Given the description of an element on the screen output the (x, y) to click on. 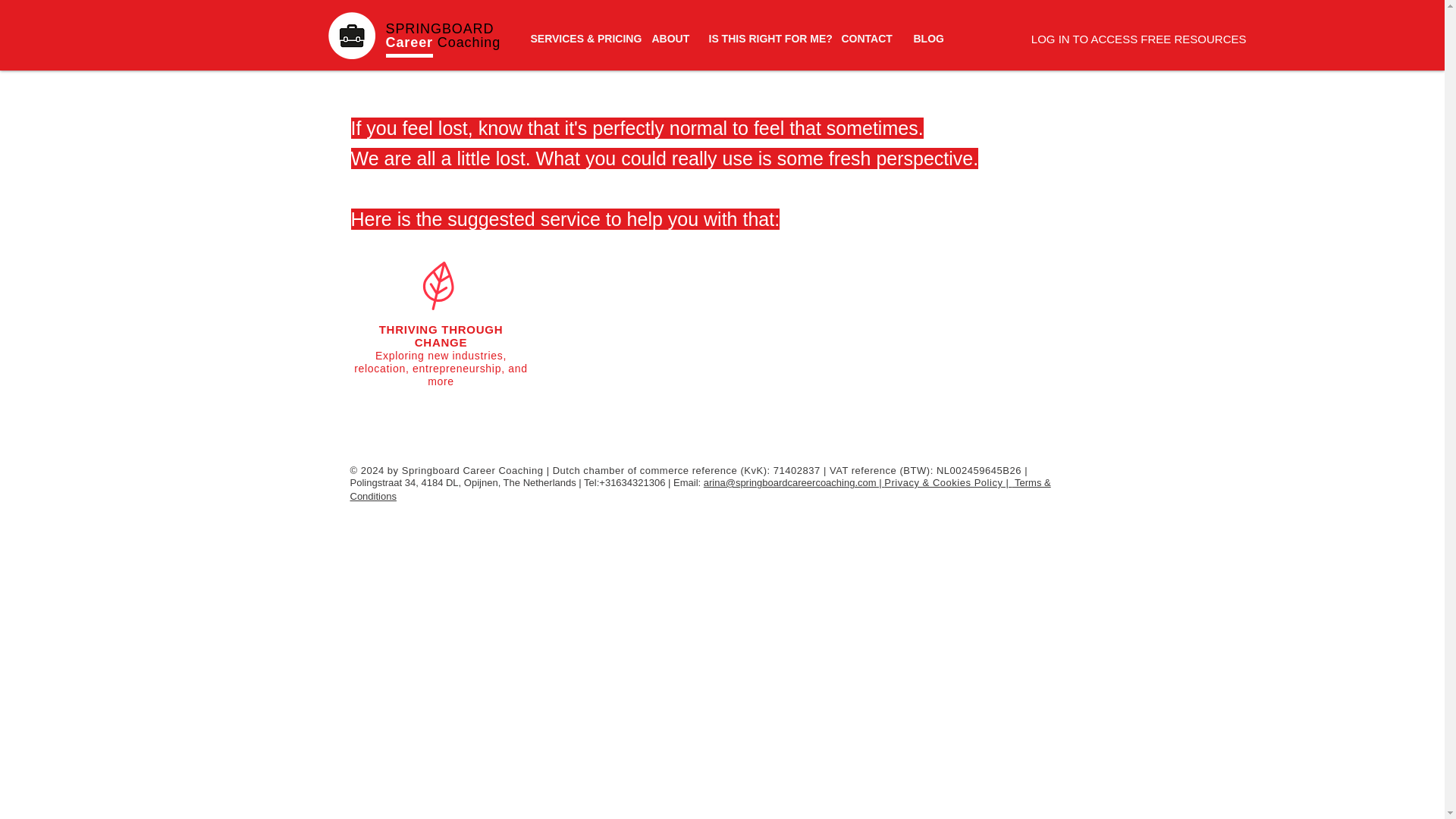
ABOUT (668, 38)
LOG IN TO ACCESS FREE RESOURCES (1138, 37)
IS THIS RIGHT FOR ME? (763, 38)
CONTACT (865, 38)
THRIVING THROUGH CHANGE (440, 335)
Career Coaching (442, 42)
BLOG (927, 38)
SPRINGBOARD (439, 28)
